Given the description of an element on the screen output the (x, y) to click on. 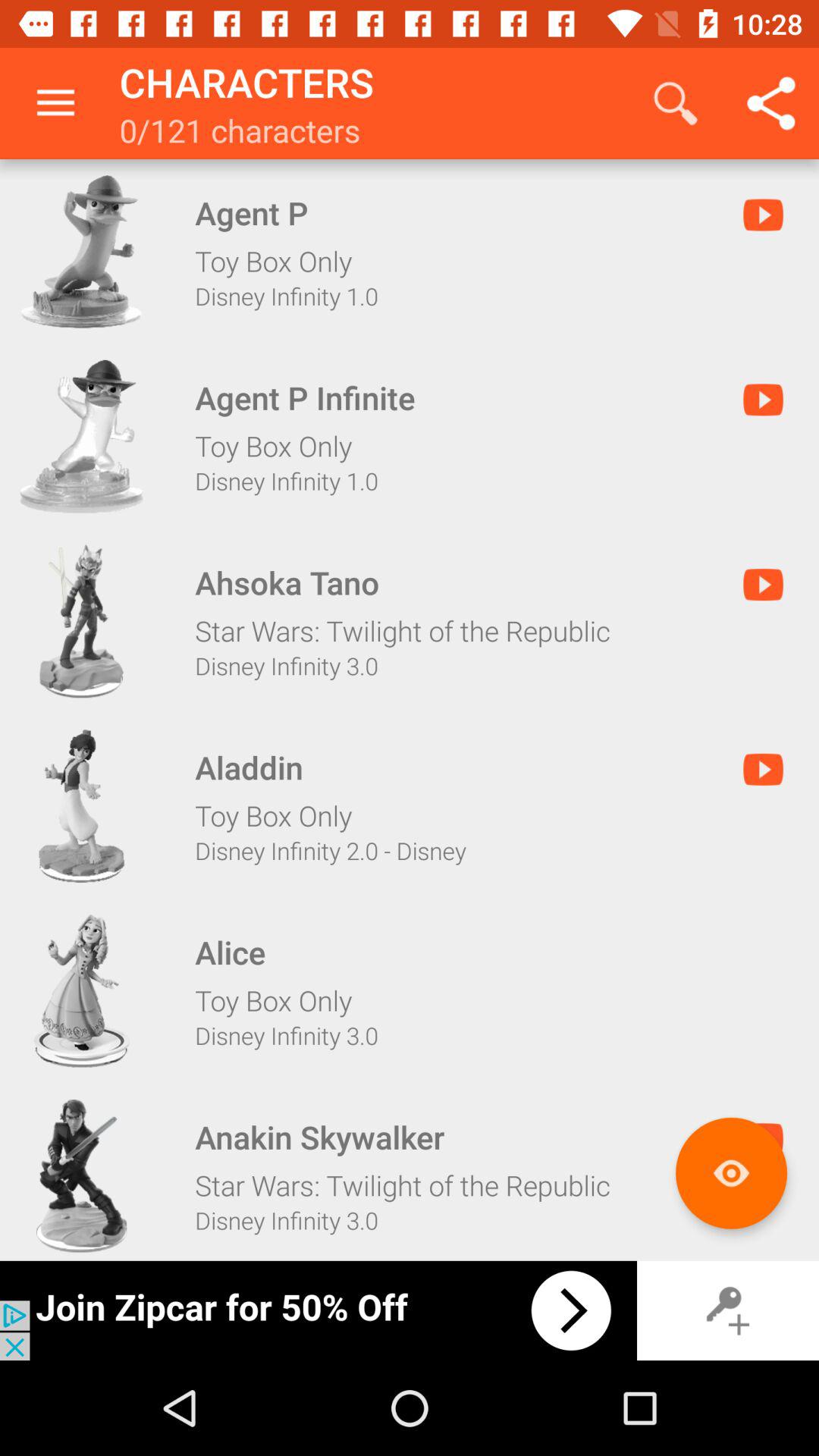
click the agent p infinite (81, 436)
